Given the description of an element on the screen output the (x, y) to click on. 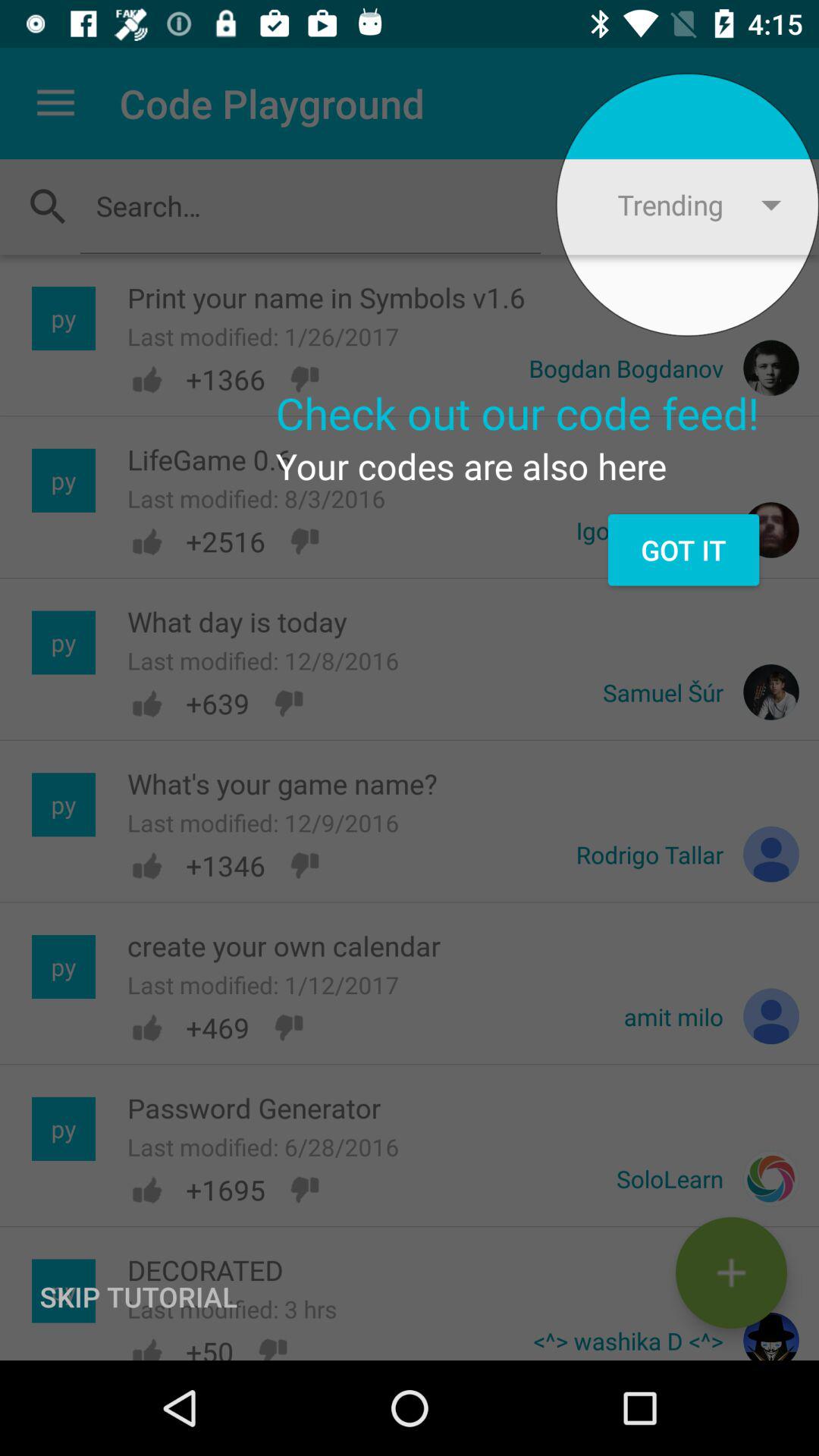
the like button shown left to 469 (146, 1027)
select the icon which is next to the rodrigo tallar (770, 854)
click on the dislike icon at the bottom shown after 1695 (304, 1189)
